Given the description of an element on the screen output the (x, y) to click on. 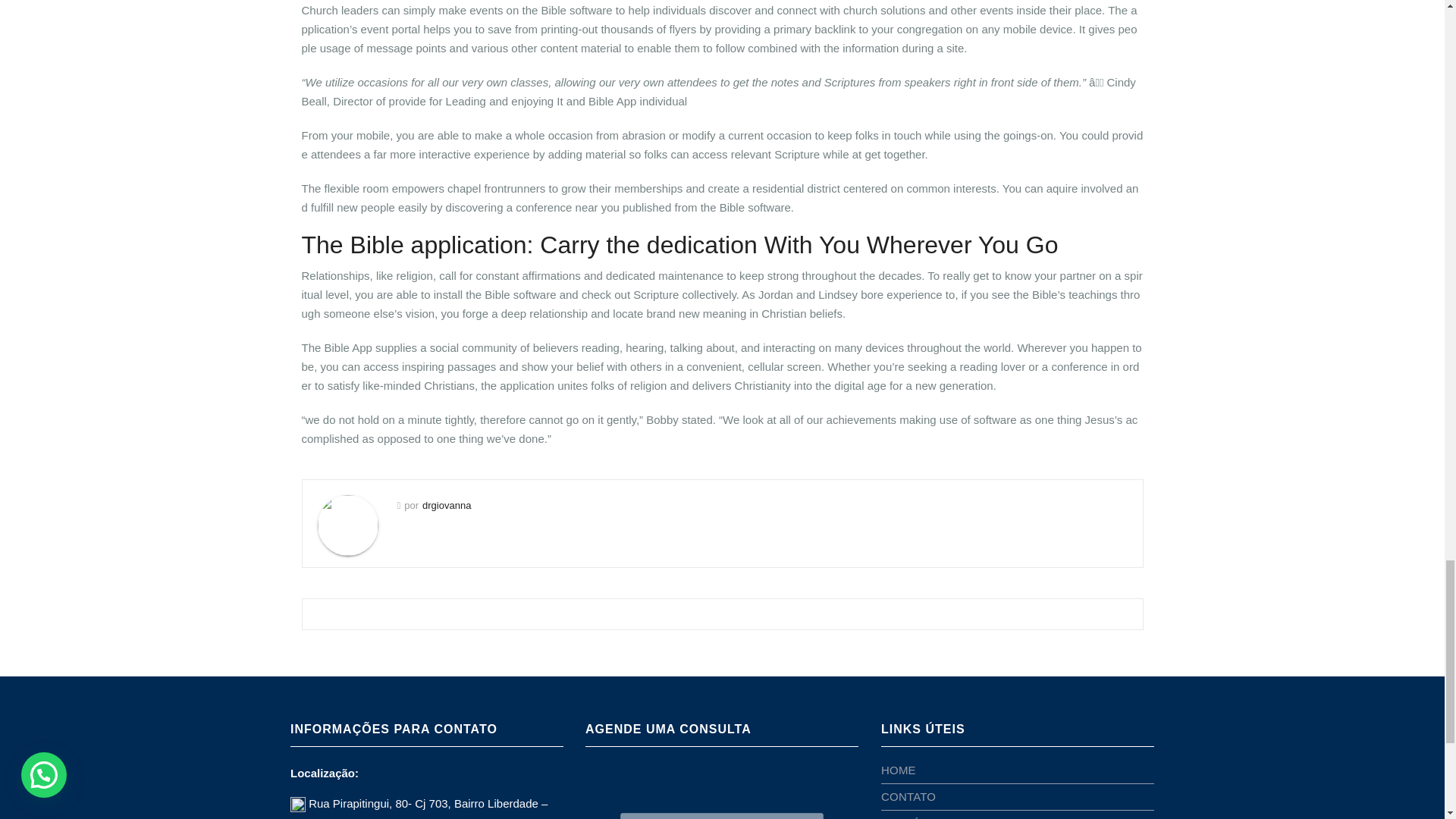
CONTATO (908, 796)
drgiovanna (446, 505)
HOME (897, 769)
